Given the description of an element on the screen output the (x, y) to click on. 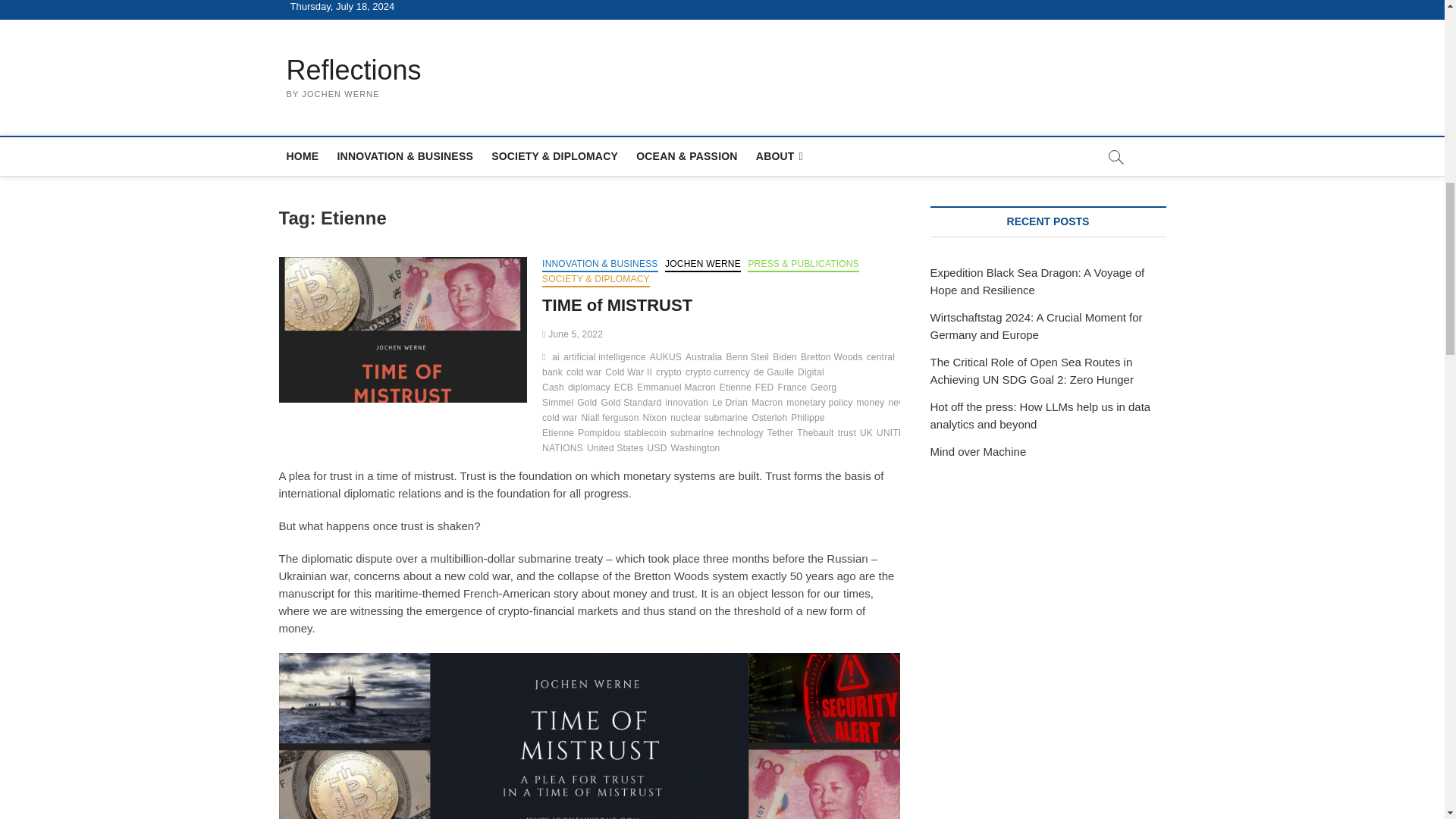
June 5, 2022 (571, 334)
June 5, 2022 (571, 334)
TIME of MISTRUST (617, 304)
ai (557, 359)
artificial intelligence (606, 359)
Reflections (354, 70)
TIME of MISTRUST (403, 329)
HOME (302, 156)
Australia (705, 359)
TIME of MISTRUST (617, 304)
AUKUS (667, 359)
JOCHEN WERNE (703, 264)
ABOUT (779, 156)
Benn Steil (749, 359)
Reflections (354, 70)
